Given the description of an element on the screen output the (x, y) to click on. 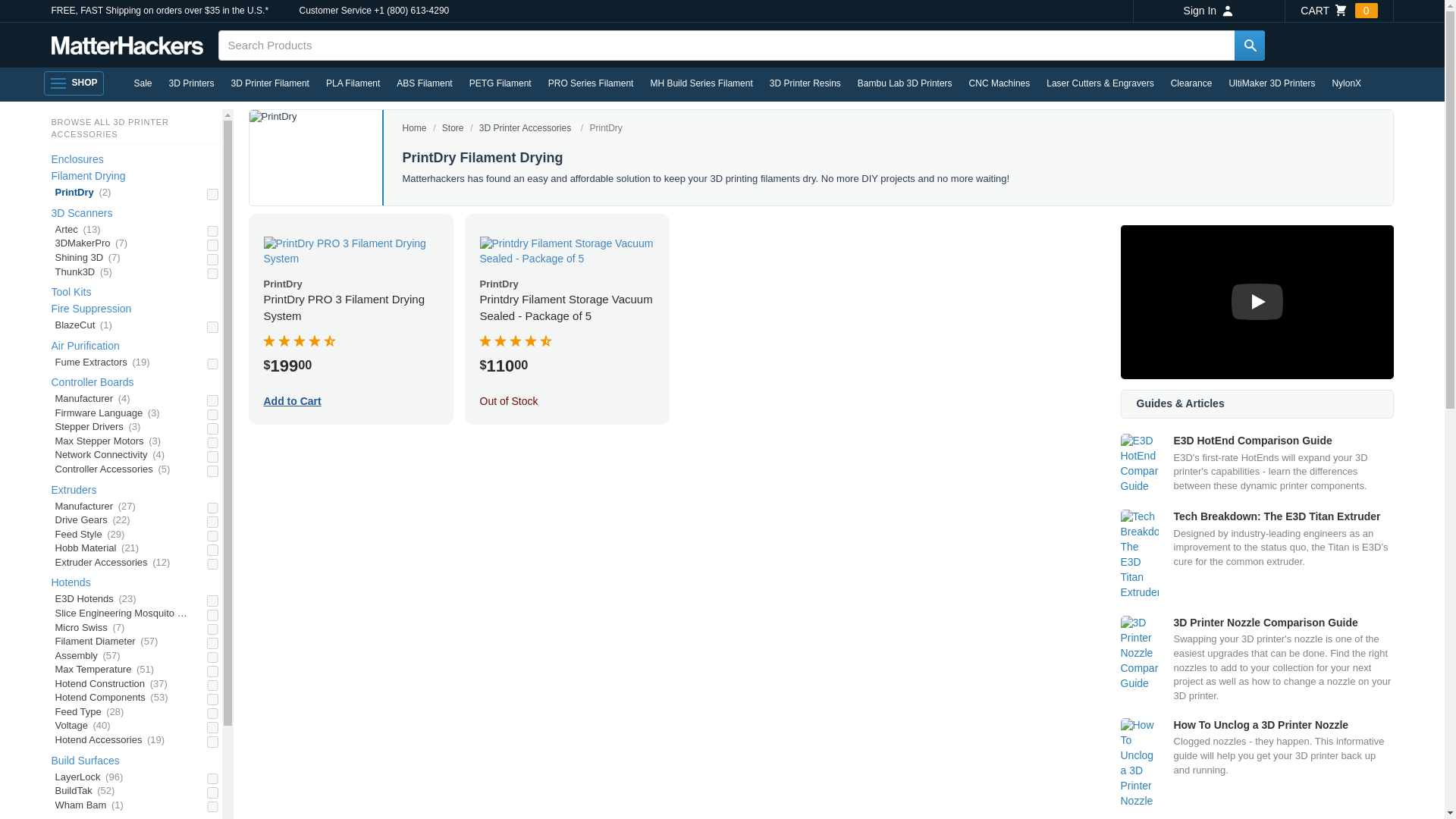
3D Printer Nozzle Comparison Guide (1257, 658)
Tech Breakdown: The E3D Titan Extruder (1257, 554)
E3D HotEnd Comparison Guide (1257, 464)
How To Unclog a 3D Printer Nozzle (1257, 763)
